Given the description of an element on the screen output the (x, y) to click on. 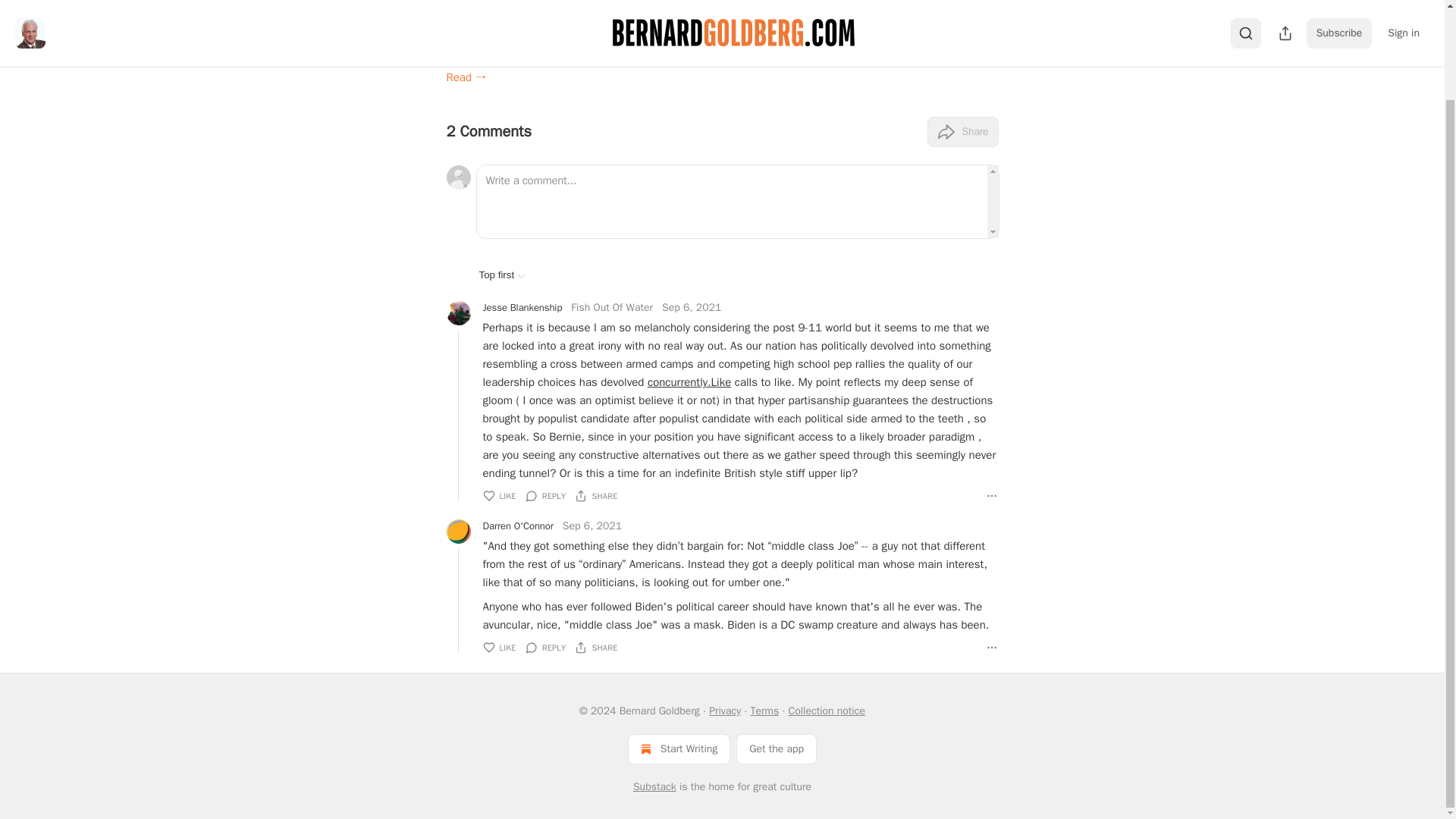
Top first (502, 274)
Sep 6, 2021 (591, 525)
4 (619, 21)
SHARE (596, 495)
Darren O'Connor (517, 525)
REPLY (545, 495)
Share (962, 132)
concurrently.Like (688, 382)
LIKE (498, 495)
BERNARD GOLDBERG (490, 20)
2 (651, 21)
Jesse Blankenship (521, 307)
Fish Out Of Water (611, 307)
LIKE (498, 647)
Sep 6, 2021 (691, 307)
